Given the description of an element on the screen output the (x, y) to click on. 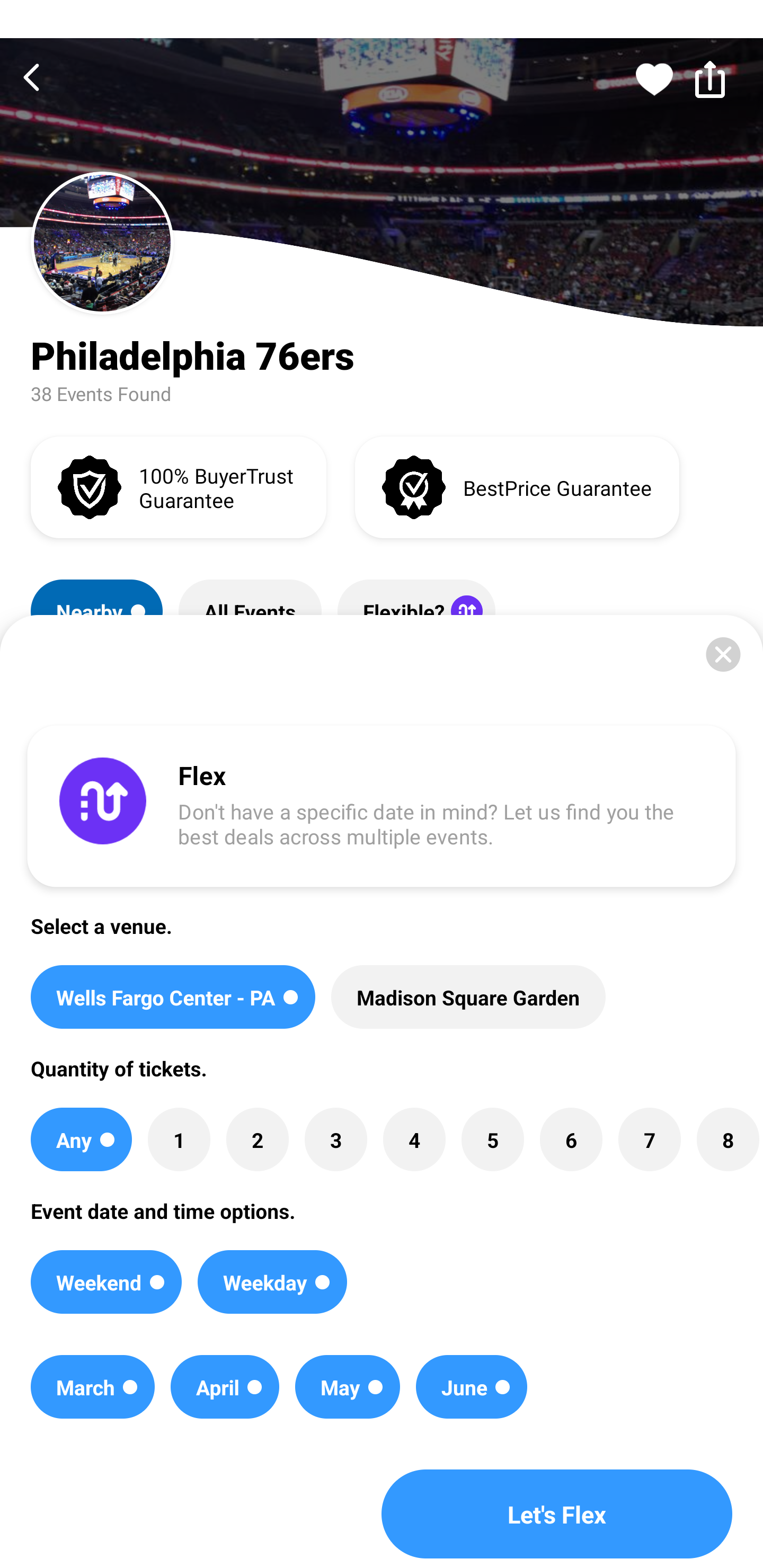
Wells Fargo Center - PA (172, 996)
Madison Square Garden (468, 996)
Any (80, 1139)
1 (179, 1139)
2 (257, 1139)
3 (335, 1139)
4 (414, 1139)
5 (492, 1139)
6 (571, 1139)
7 (649, 1139)
8 (727, 1139)
Weekend (105, 1281)
Weekday (272, 1281)
March (92, 1386)
April (224, 1386)
May (347, 1386)
June (471, 1386)
Let's Flex (556, 1513)
